Given the description of an element on the screen output the (x, y) to click on. 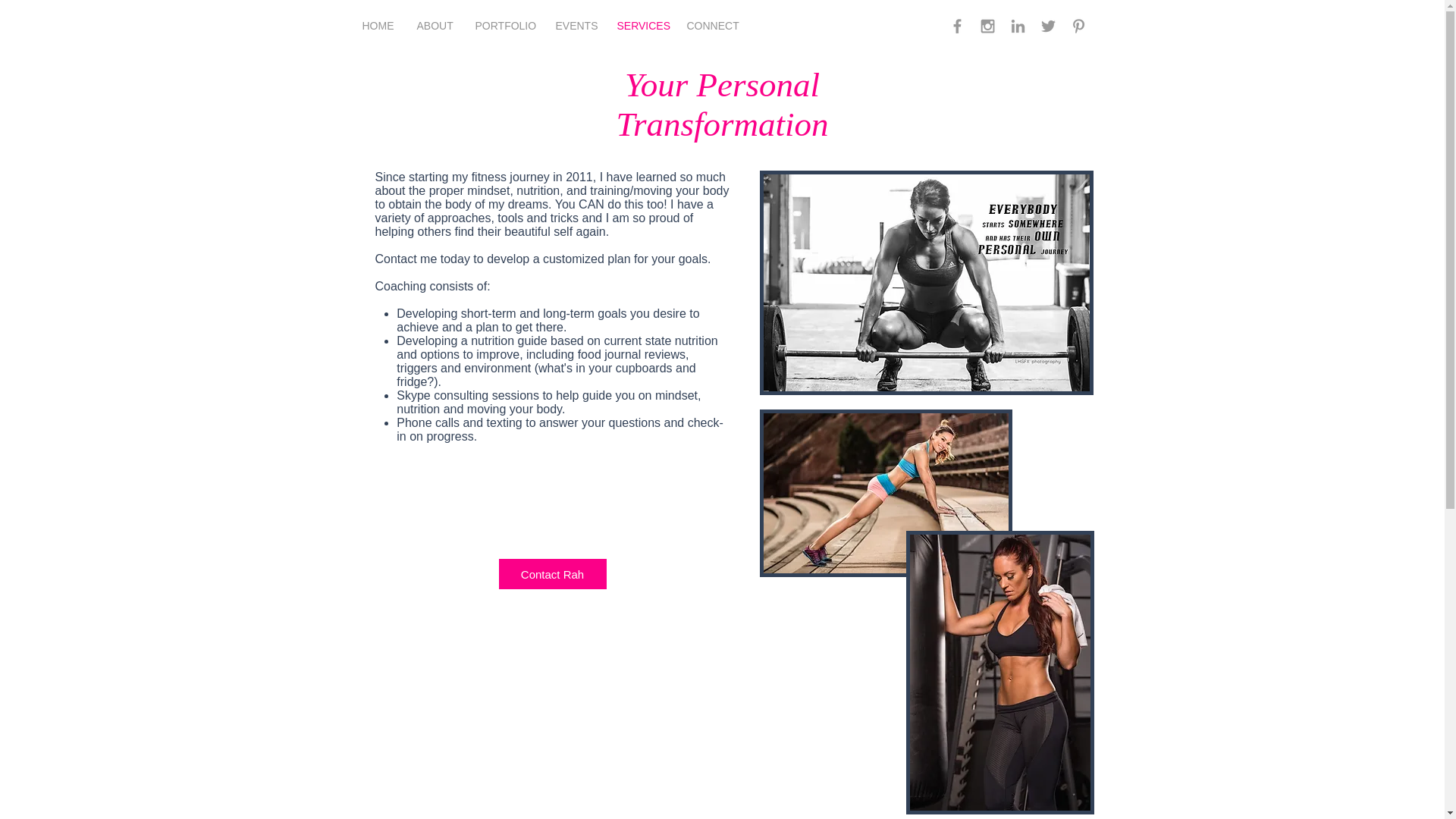
CONNECT (711, 25)
PORTFOLIO (504, 25)
ABOUT (433, 25)
Contact Rah (553, 573)
HOME (377, 25)
EVENTS (574, 25)
SERVICES (640, 25)
